Given the description of an element on the screen output the (x, y) to click on. 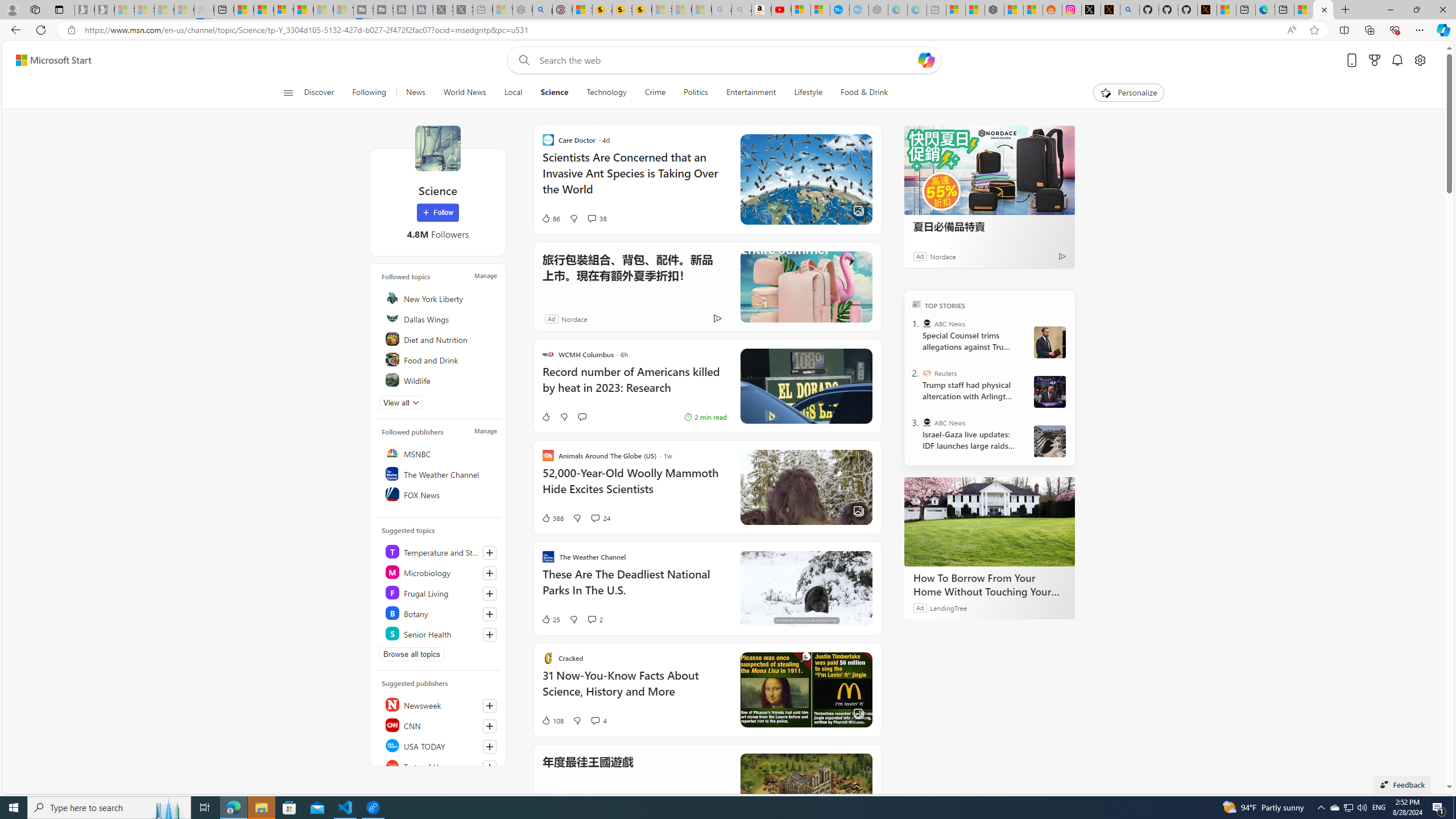
Follow this topic (489, 634)
News (415, 92)
31 Now-You-Know Facts About Science, History and More (805, 689)
Amazon Echo Dot PNG - Search Images - Sleeping (741, 9)
